Given the description of an element on the screen output the (x, y) to click on. 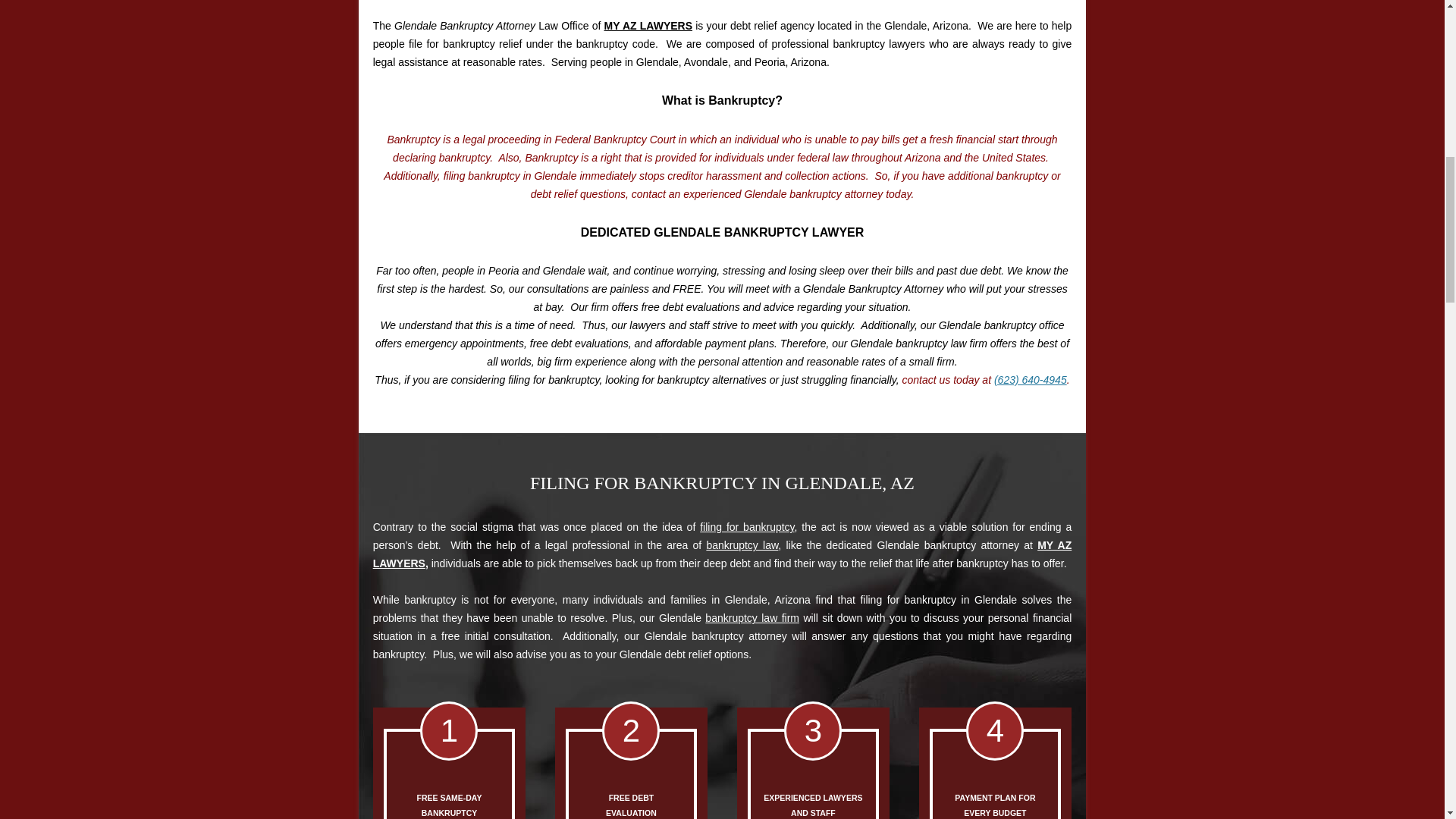
bankruptcy law firm (751, 617)
MY AZ LAWYERS (648, 25)
Mesa Bankruptcy Attorneys (746, 526)
Phoenix Bankruptcy Lawyers (741, 544)
bankruptcy law (741, 544)
Tucson Bankruptcy Law Office (751, 617)
MY AZ LAWYERS (721, 553)
filing for bankruptcy (746, 526)
